Given the description of an element on the screen output the (x, y) to click on. 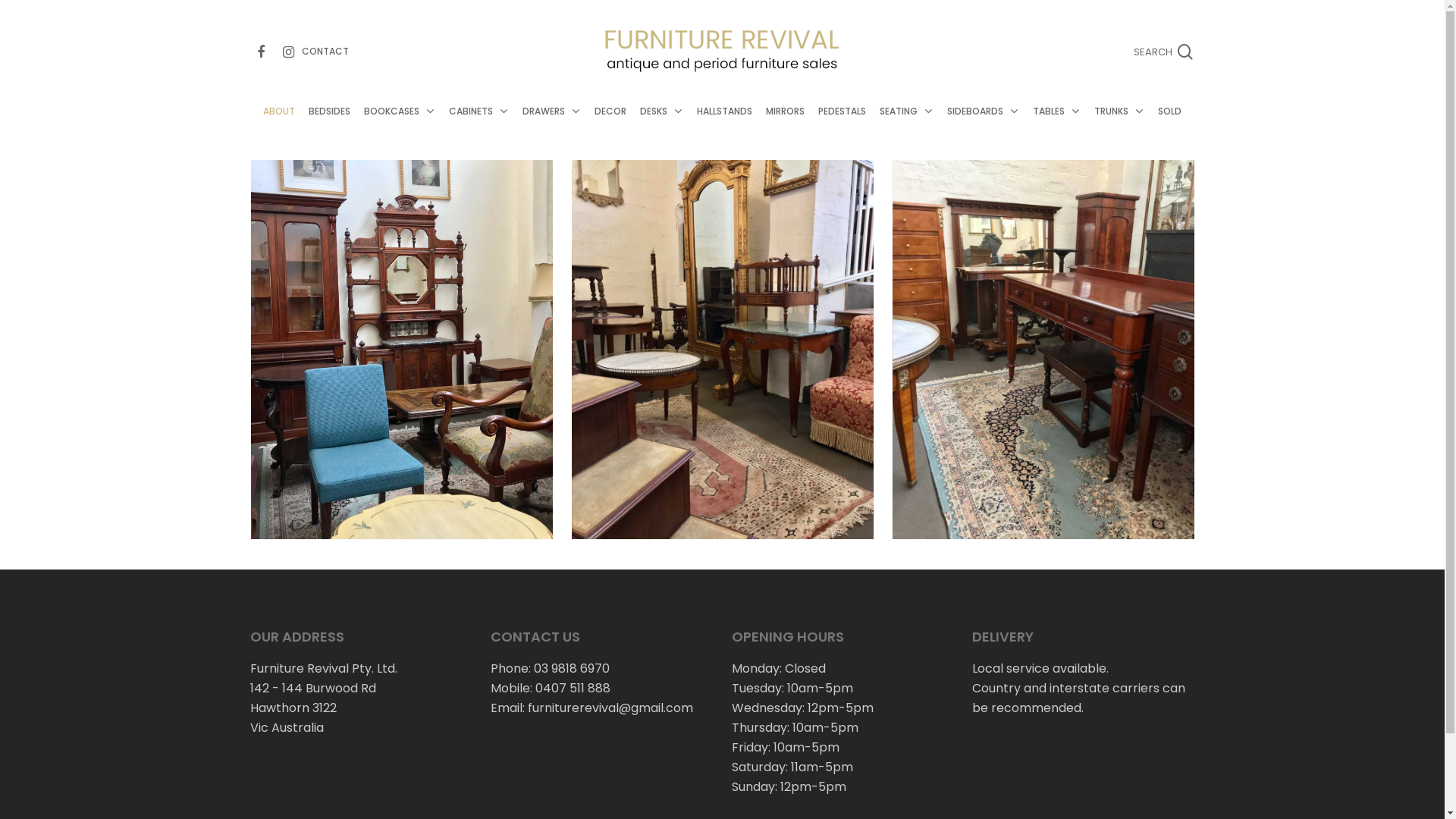
TABLES Element type: text (1056, 126)
CABINETS Element type: text (478, 126)
BOOKCASES Element type: text (399, 126)
ABOUT Element type: text (278, 126)
SOLD Element type: text (1169, 126)
0407 511 888 Element type: text (572, 687)
furniturerevival@gmail.com Element type: text (610, 707)
DRAWERS Element type: text (551, 126)
DECOR Element type: text (610, 126)
DESKS Element type: text (661, 126)
MIRRORS Element type: text (785, 126)
PEDESTALS Element type: text (841, 126)
HALLSTANDS Element type: text (724, 126)
03 9818 6970 Element type: text (571, 668)
SEATING Element type: text (906, 126)
TRUNKS Element type: text (1119, 126)
SIDEBOARDS Element type: text (983, 126)
CONTACT Element type: text (324, 50)
BEDSIDES Element type: text (329, 126)
